Given the description of an element on the screen output the (x, y) to click on. 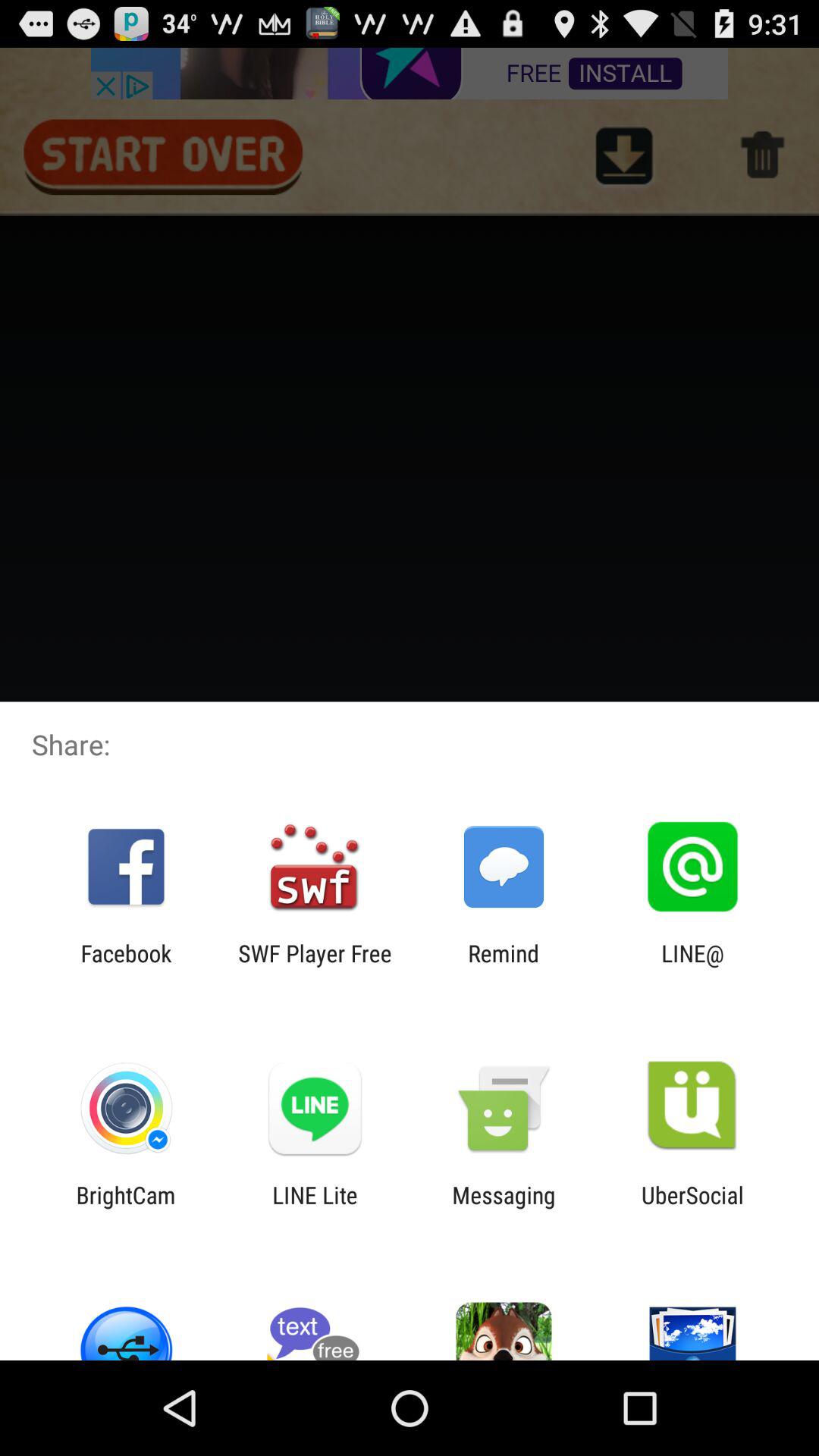
scroll until the facebook (125, 966)
